Given the description of an element on the screen output the (x, y) to click on. 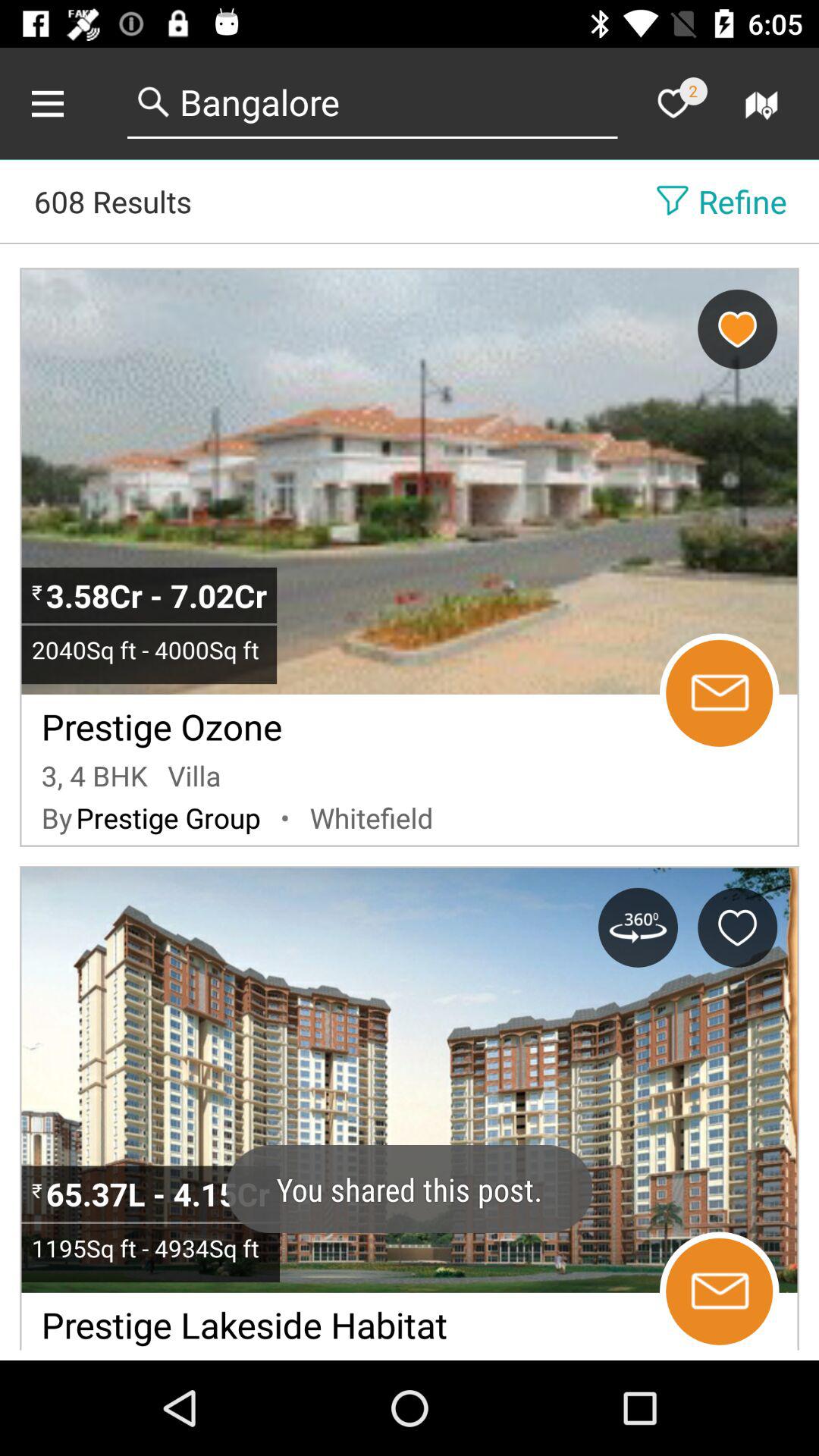
send email (719, 693)
